Given the description of an element on the screen output the (x, y) to click on. 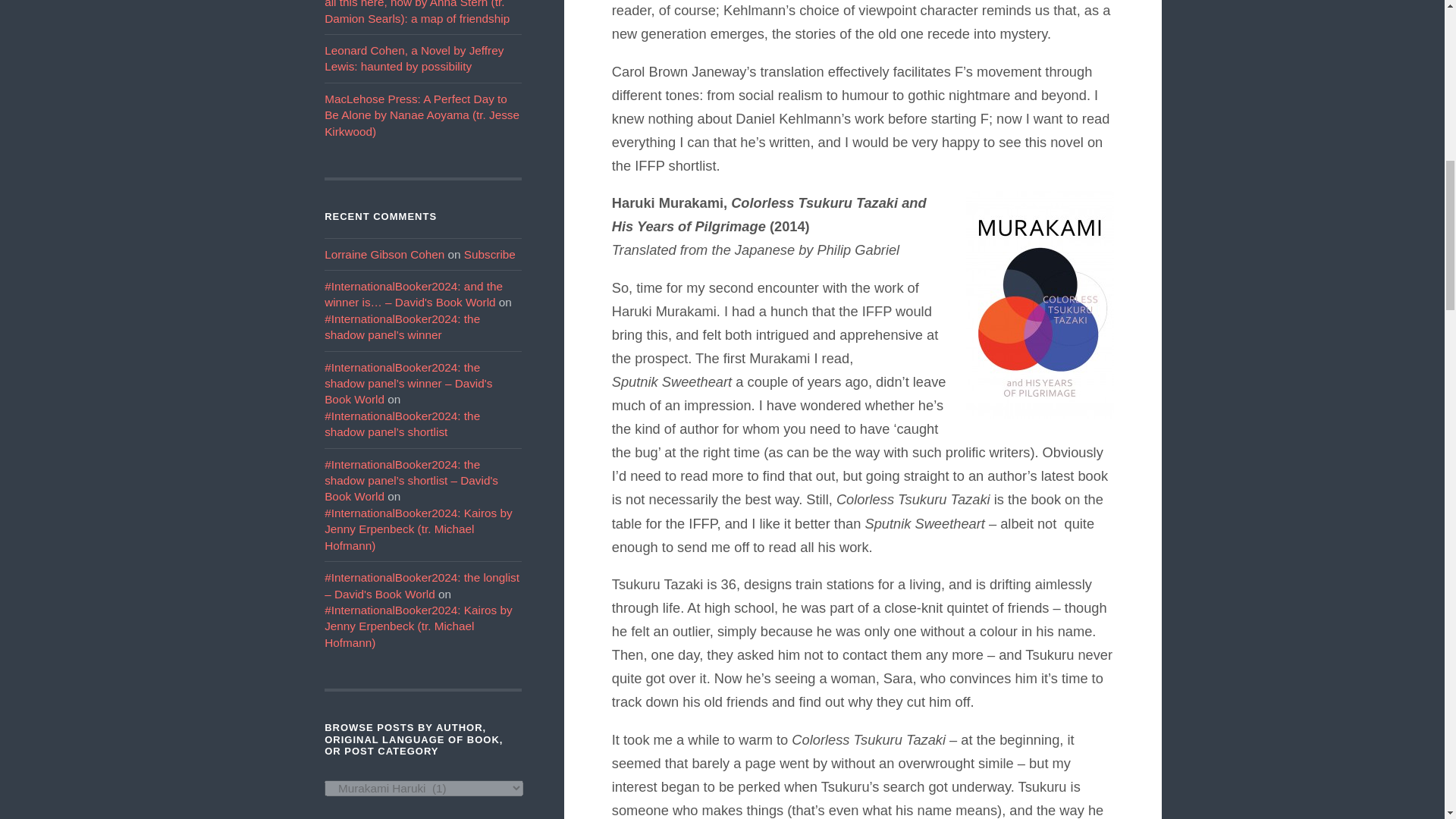
Subscribe (489, 254)
Lorraine Gibson Cohen (384, 254)
